Given the description of an element on the screen output the (x, y) to click on. 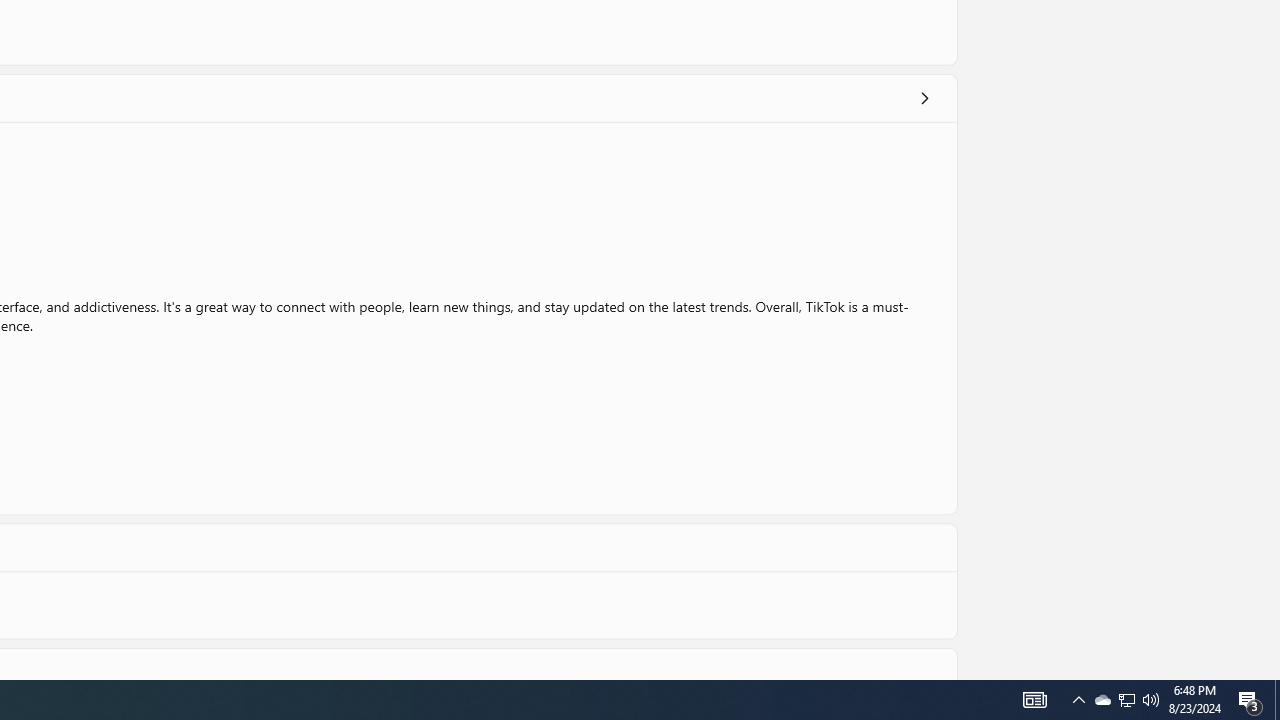
Show all ratings and reviews (924, 97)
